Given the description of an element on the screen output the (x, y) to click on. 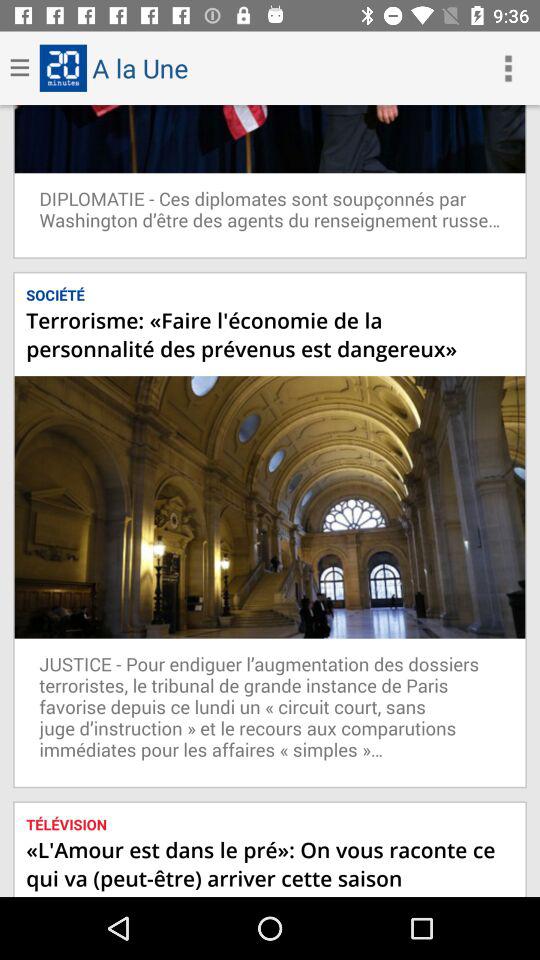
tap item next to a la une item (508, 67)
